Given the description of an element on the screen output the (x, y) to click on. 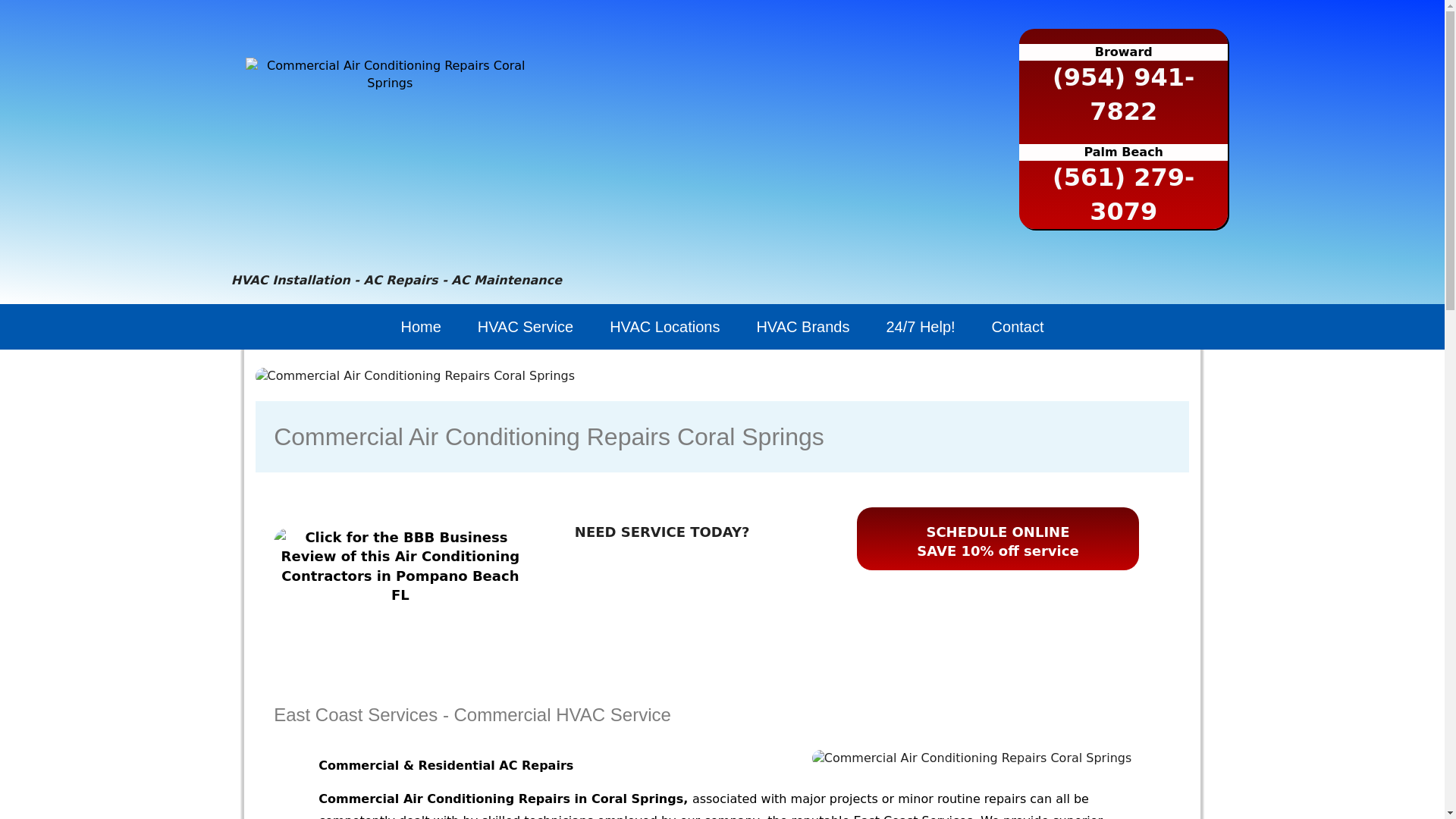
HVAC Service (525, 326)
HVAC Locations (664, 326)
Home (419, 326)
HVAC Locations (664, 326)
HVAC Brands (802, 326)
Commercial Air Conditioning Repairs Coral Springs (389, 74)
HVAC Service (525, 326)
